Given the description of an element on the screen output the (x, y) to click on. 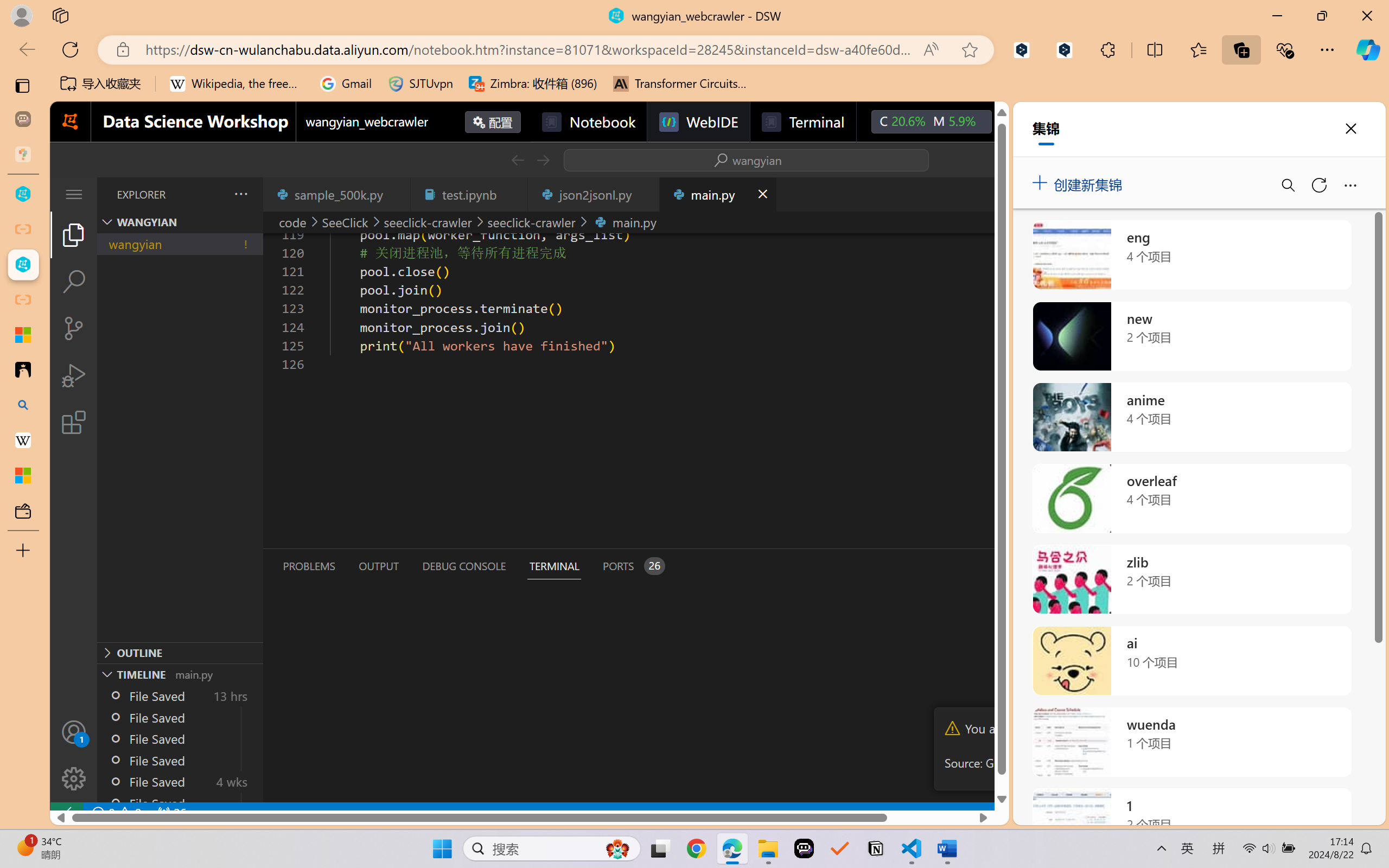
Run and Debug (Ctrl+Shift+D) (73, 375)
Terminal (801, 121)
icon (1015, 121)
